Given the description of an element on the screen output the (x, y) to click on. 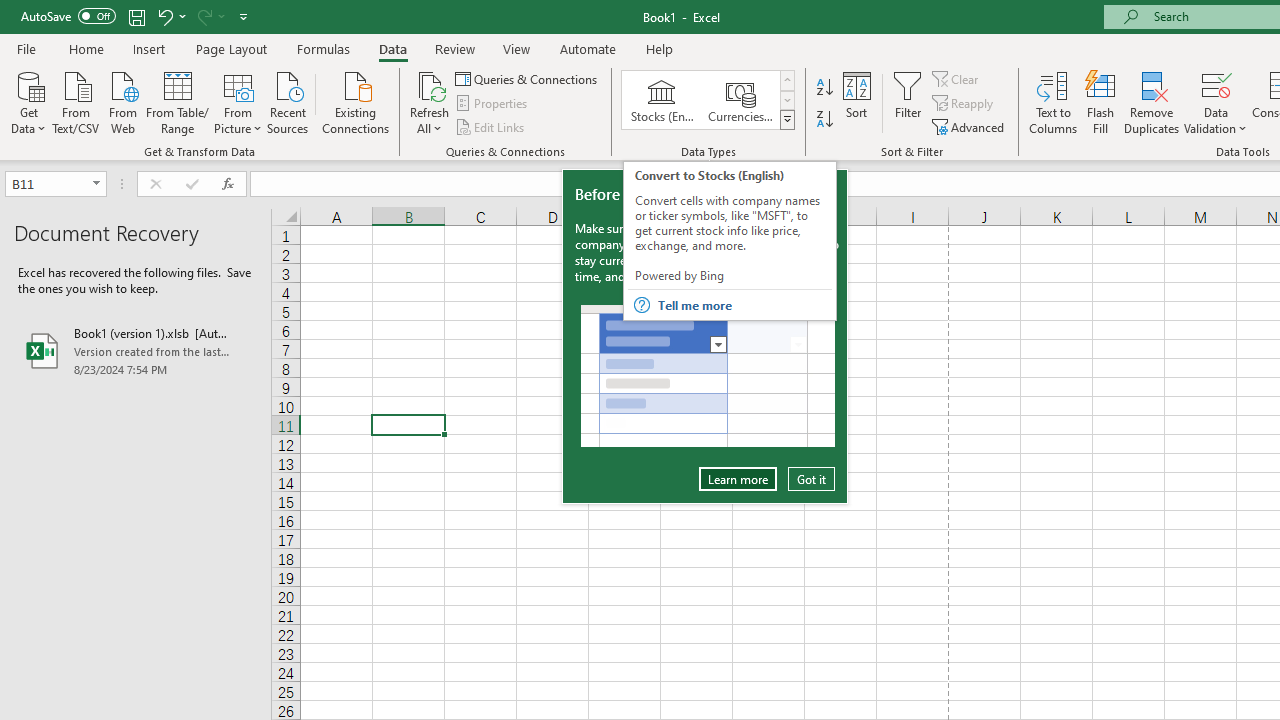
Cursor Converts Cells to Data Type (707, 376)
